Given the description of an element on the screen output the (x, y) to click on. 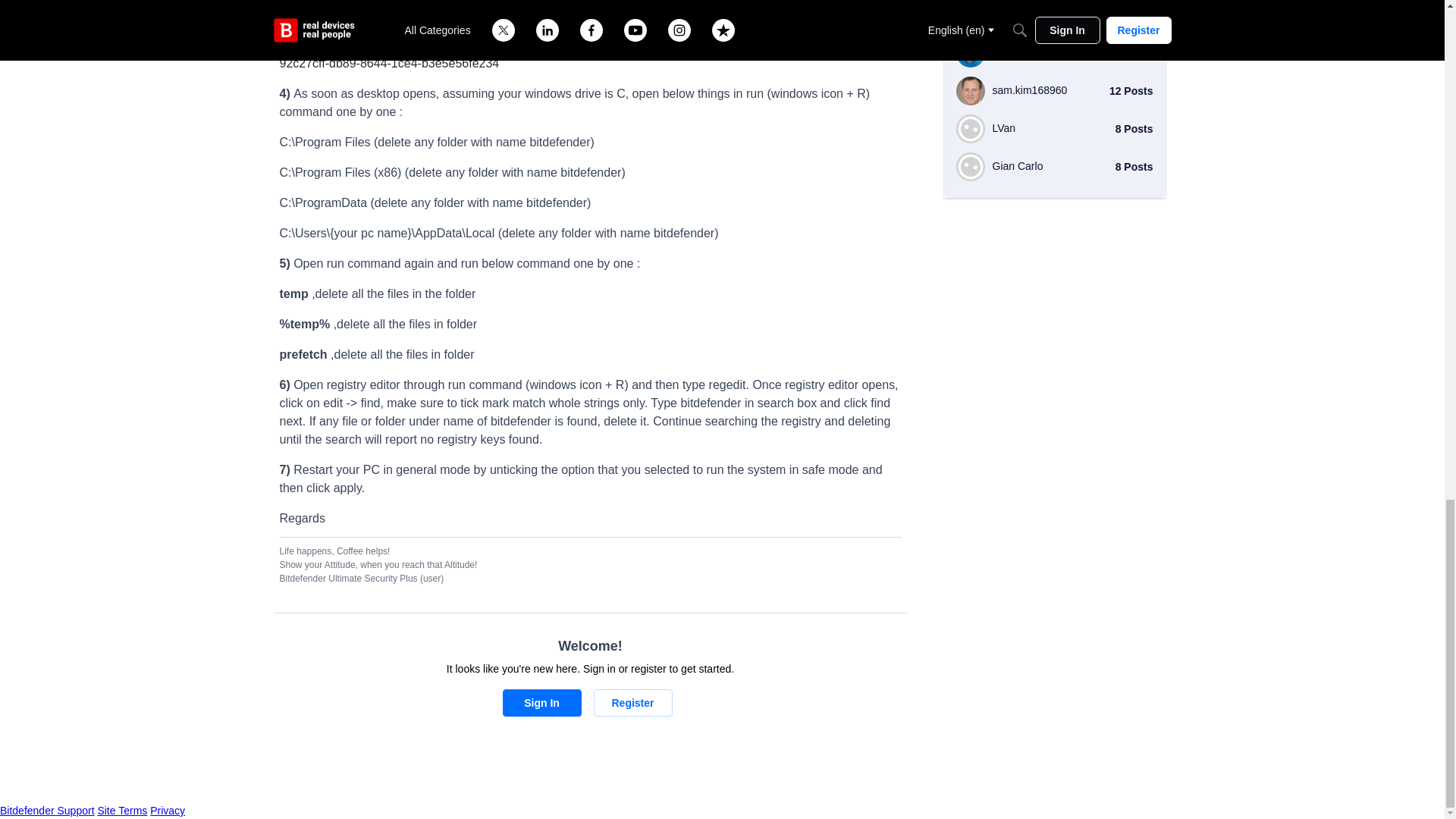
Sign In (541, 702)
Register (631, 702)
Register (631, 702)
Sign In (541, 702)
